Given the description of an element on the screen output the (x, y) to click on. 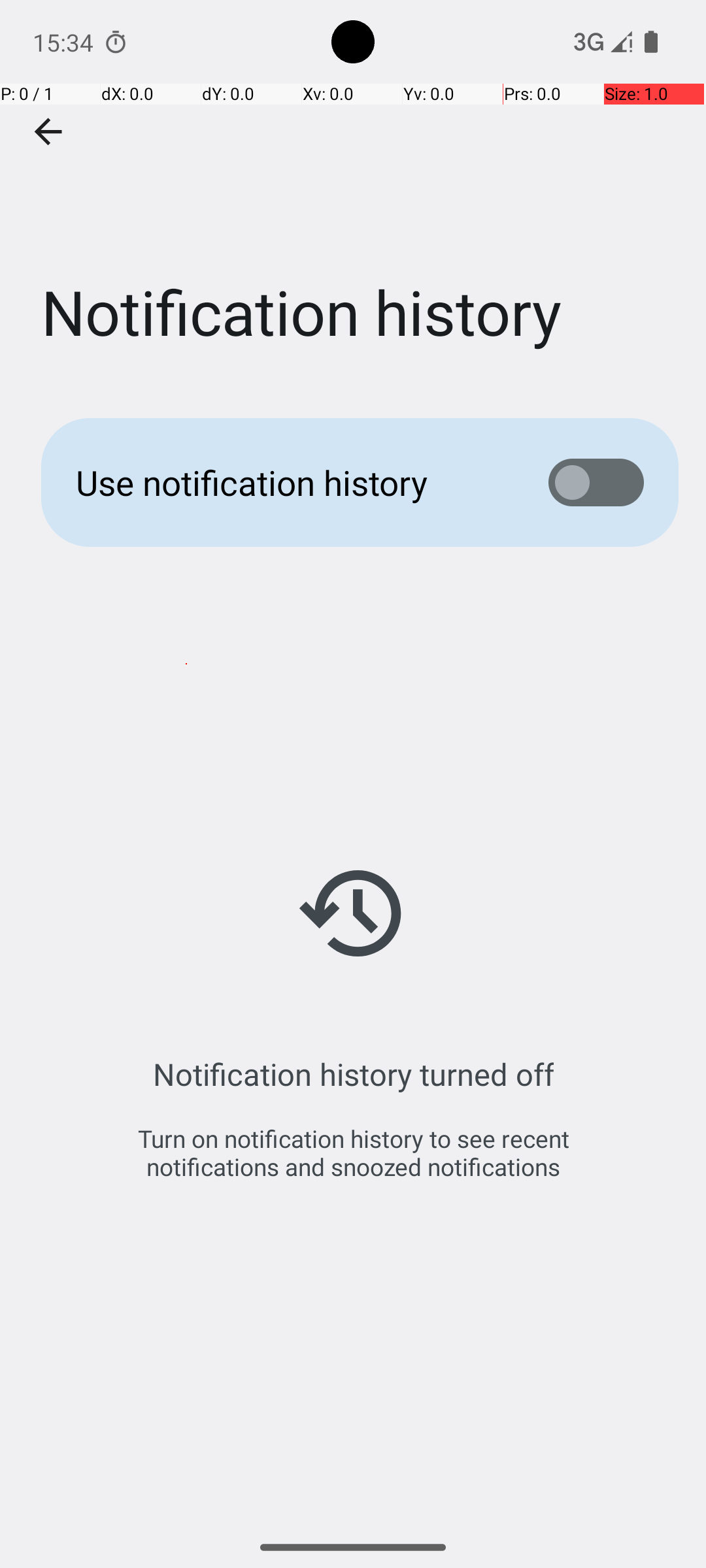
Notification history turned off Element type: android.widget.TextView (352, 1073)
Turn on notification history to see recent notifications and snoozed notifications Element type: android.widget.TextView (352, 1152)
